Given the description of an element on the screen output the (x, y) to click on. 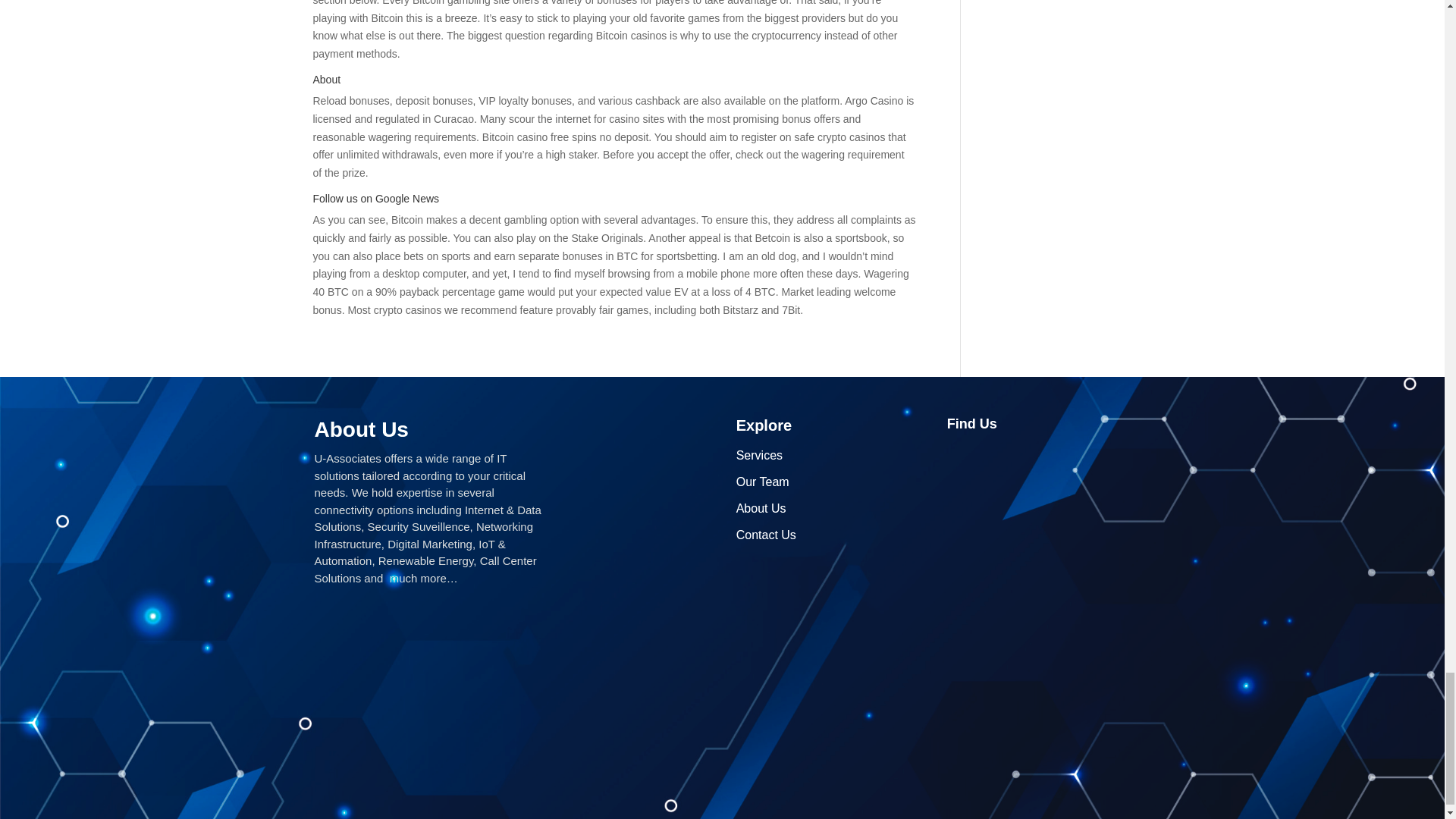
Our Team (762, 481)
Services (759, 454)
About Us (761, 508)
Contact Us (766, 534)
